Given the description of an element on the screen output the (x, y) to click on. 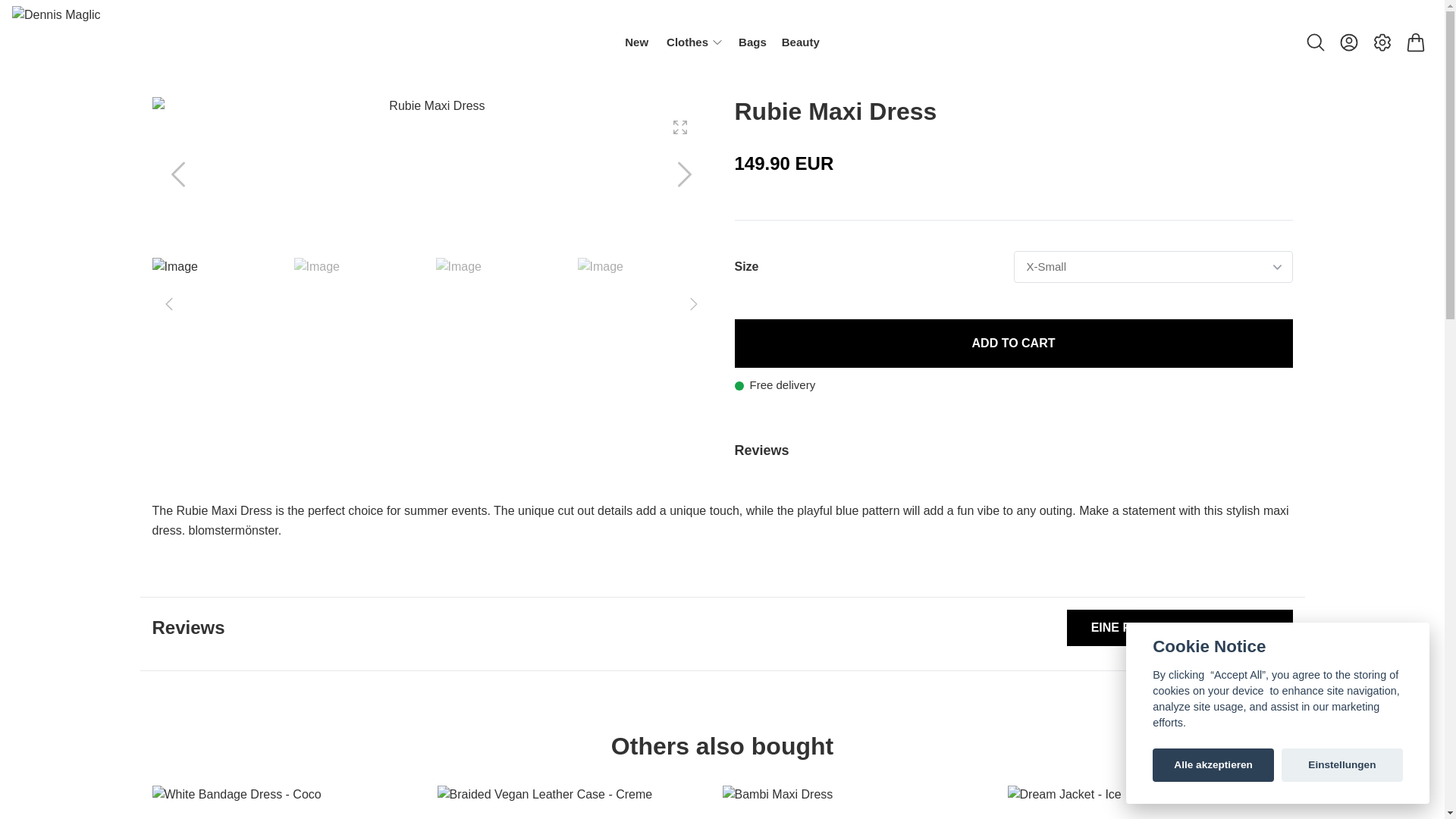
Reviews (1012, 451)
Beauty (800, 41)
Beauty (800, 41)
ADD TO CART (1012, 343)
Bags (752, 41)
Bags (752, 41)
Clothes (687, 41)
